Given the description of an element on the screen output the (x, y) to click on. 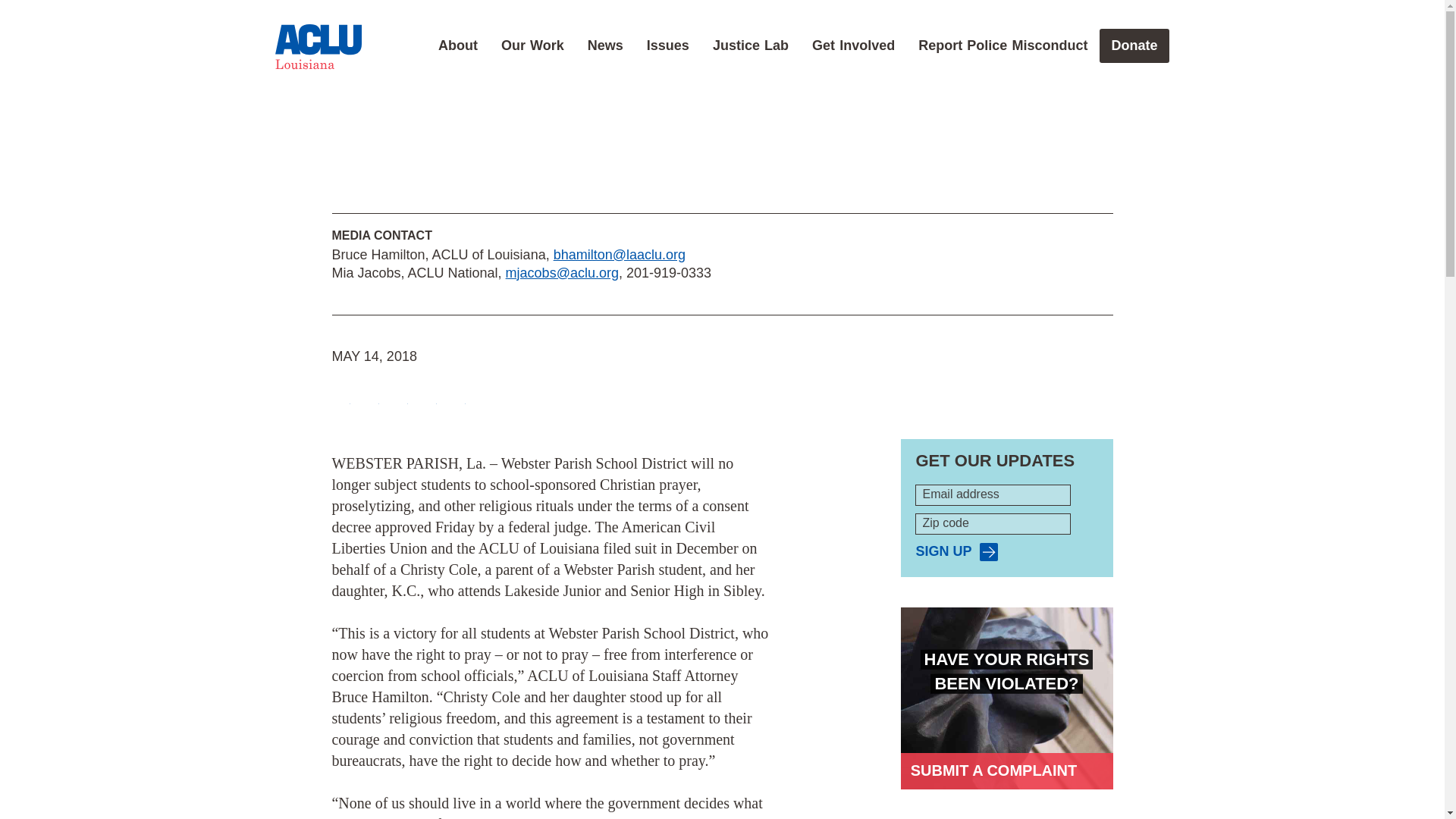
Get Involved (852, 45)
Print (455, 396)
Email address (992, 495)
Donate (1134, 45)
Submit this to Facebook (340, 396)
Facebook (340, 396)
Report Police Misconduct (1003, 45)
Zip code (992, 523)
Sign up (956, 551)
